Given the description of an element on the screen output the (x, y) to click on. 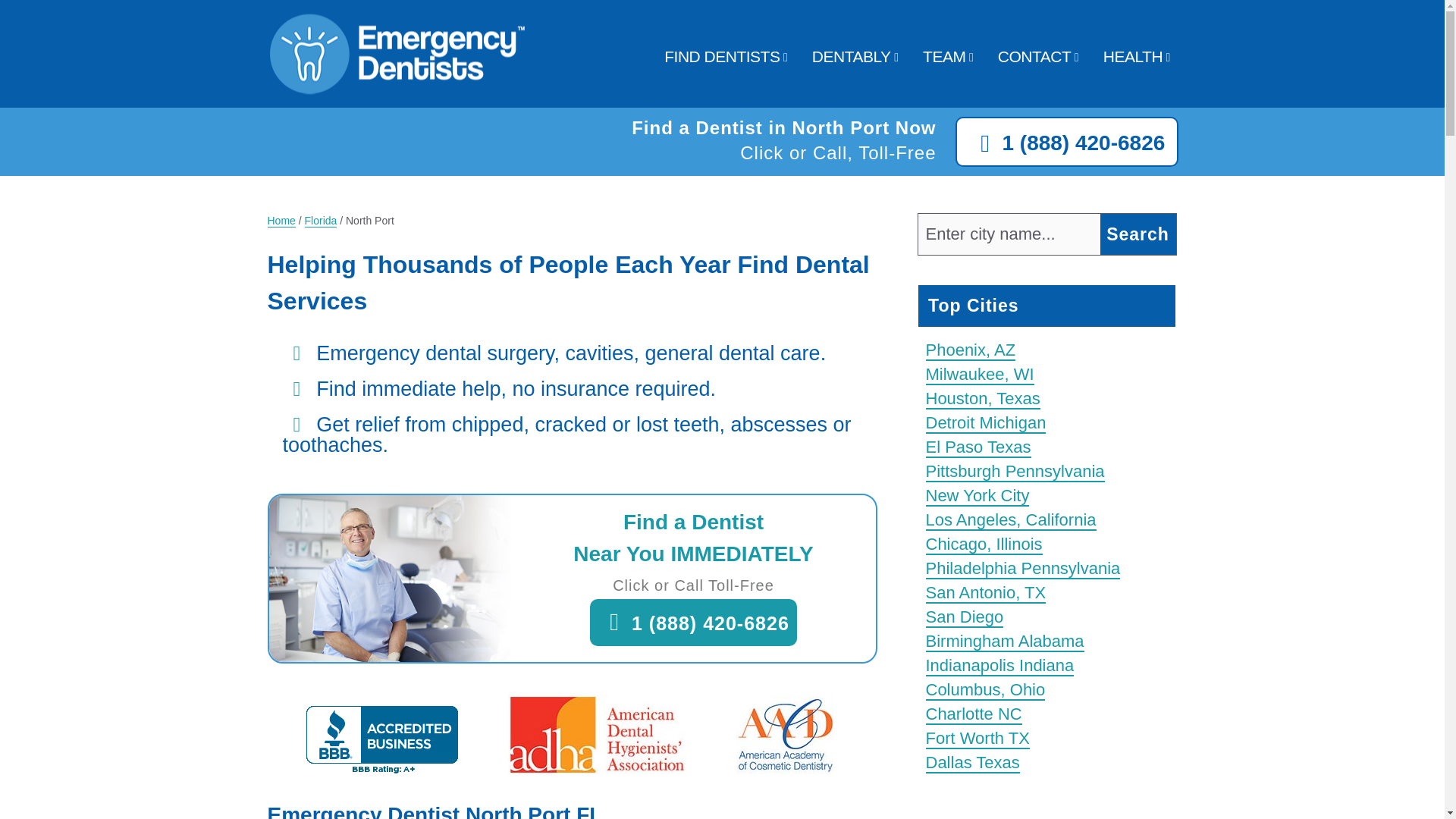
DENTABLY (851, 56)
Emergency Dentists USA (395, 91)
Search (1136, 233)
FIND DENTISTS (720, 56)
TEAM (944, 56)
Search (1136, 233)
CONTACT (1033, 56)
